Given the description of an element on the screen output the (x, y) to click on. 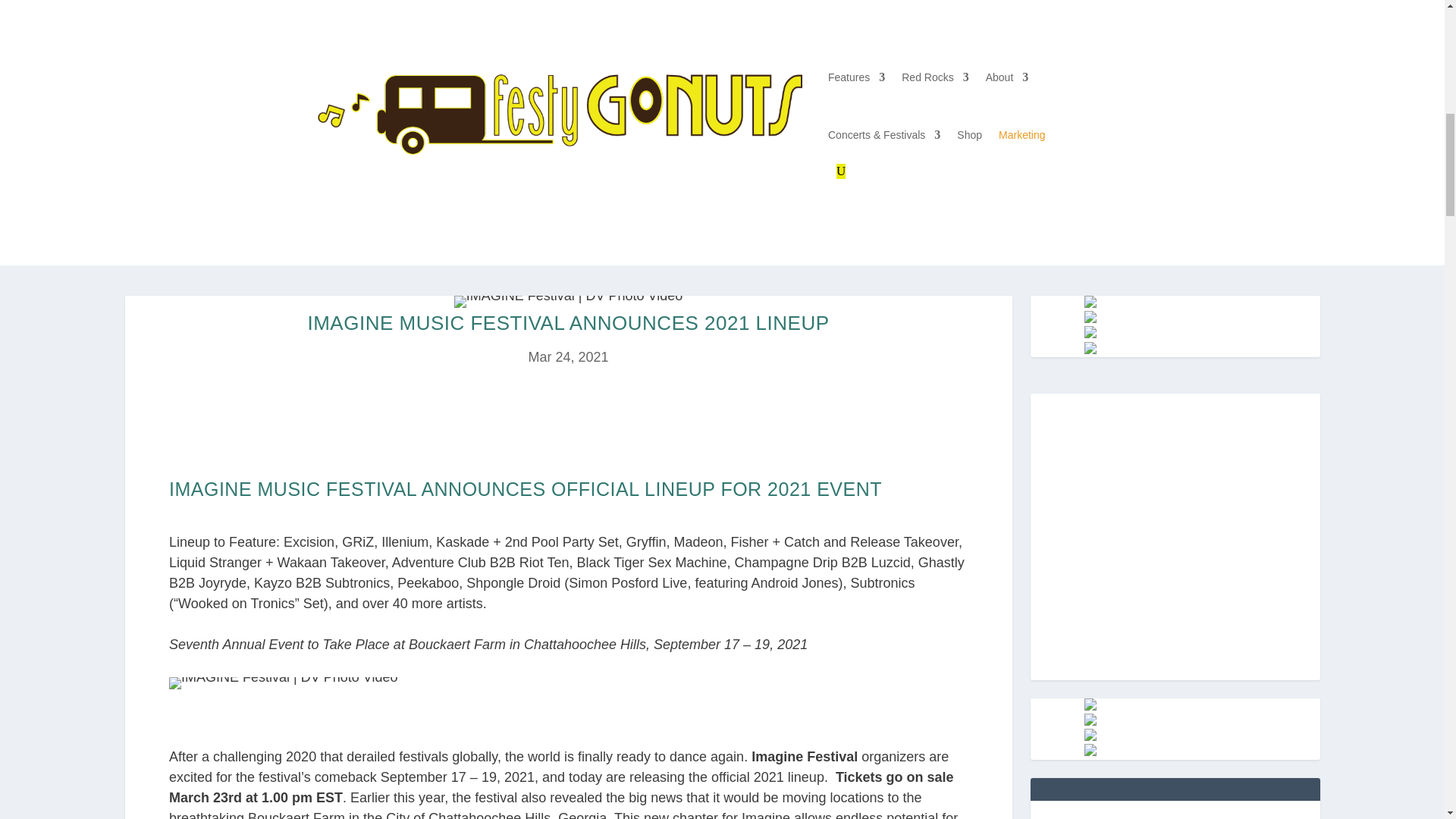
IMAGINE-FESTIVAL-DVPhotoVideo-1 (282, 683)
IMAGINE-FESTIVAL-DVPhotoVideo-3 (568, 301)
